Given the description of an element on the screen output the (x, y) to click on. 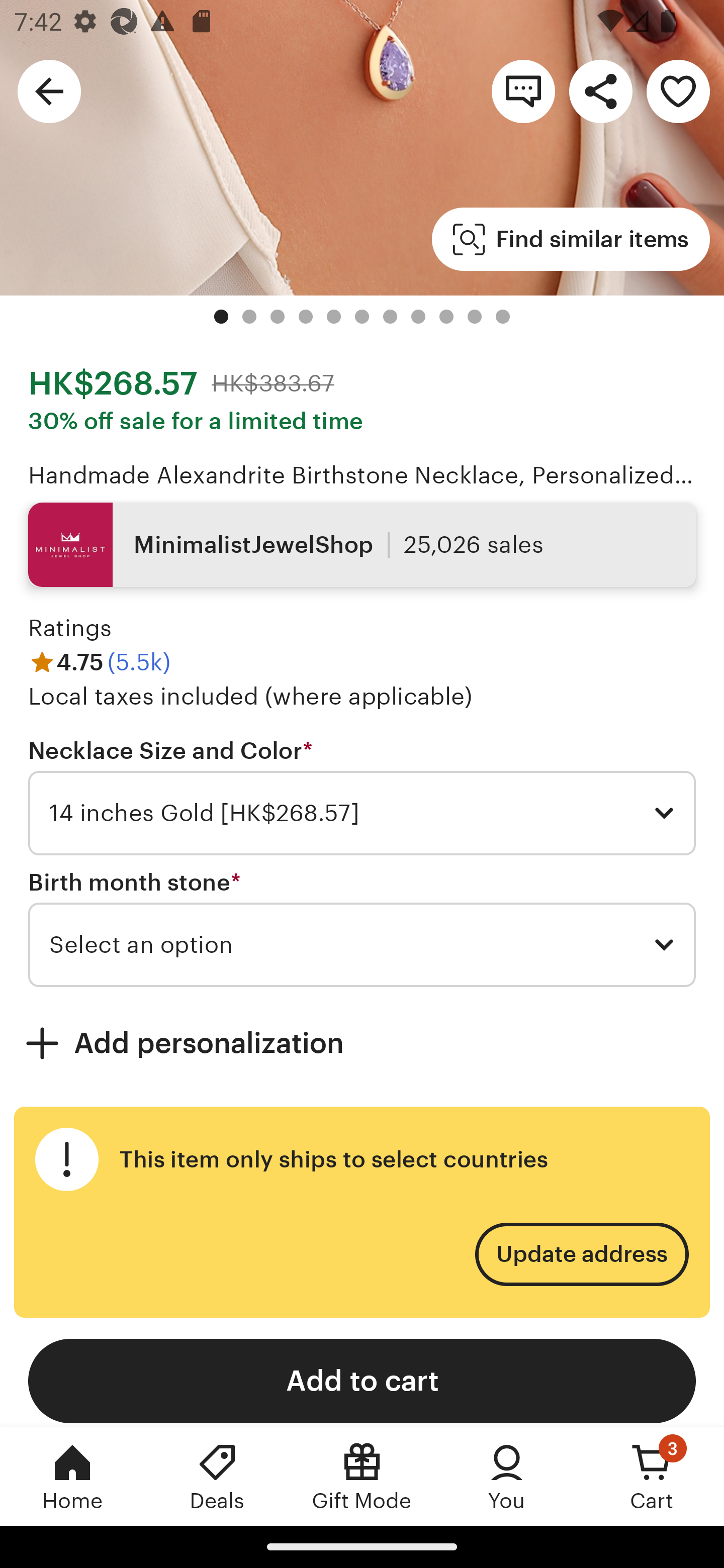
Navigate up (49, 90)
Contact shop (523, 90)
Share (600, 90)
Find similar items (571, 238)
MinimalistJewelShop 25,026 sales (361, 544)
Ratings (70, 627)
4.75 (5.5k) (99, 661)
14 inches Gold [HK$268.57] (361, 813)
Birth month stone * Required Select an option (361, 927)
Select an option (361, 944)
Add personalization Add personalization Required (362, 1042)
Update address (581, 1254)
Add to cart (361, 1381)
Deals (216, 1475)
Gift Mode (361, 1475)
You (506, 1475)
Cart, 3 new notifications Cart (651, 1475)
